Given the description of an element on the screen output the (x, y) to click on. 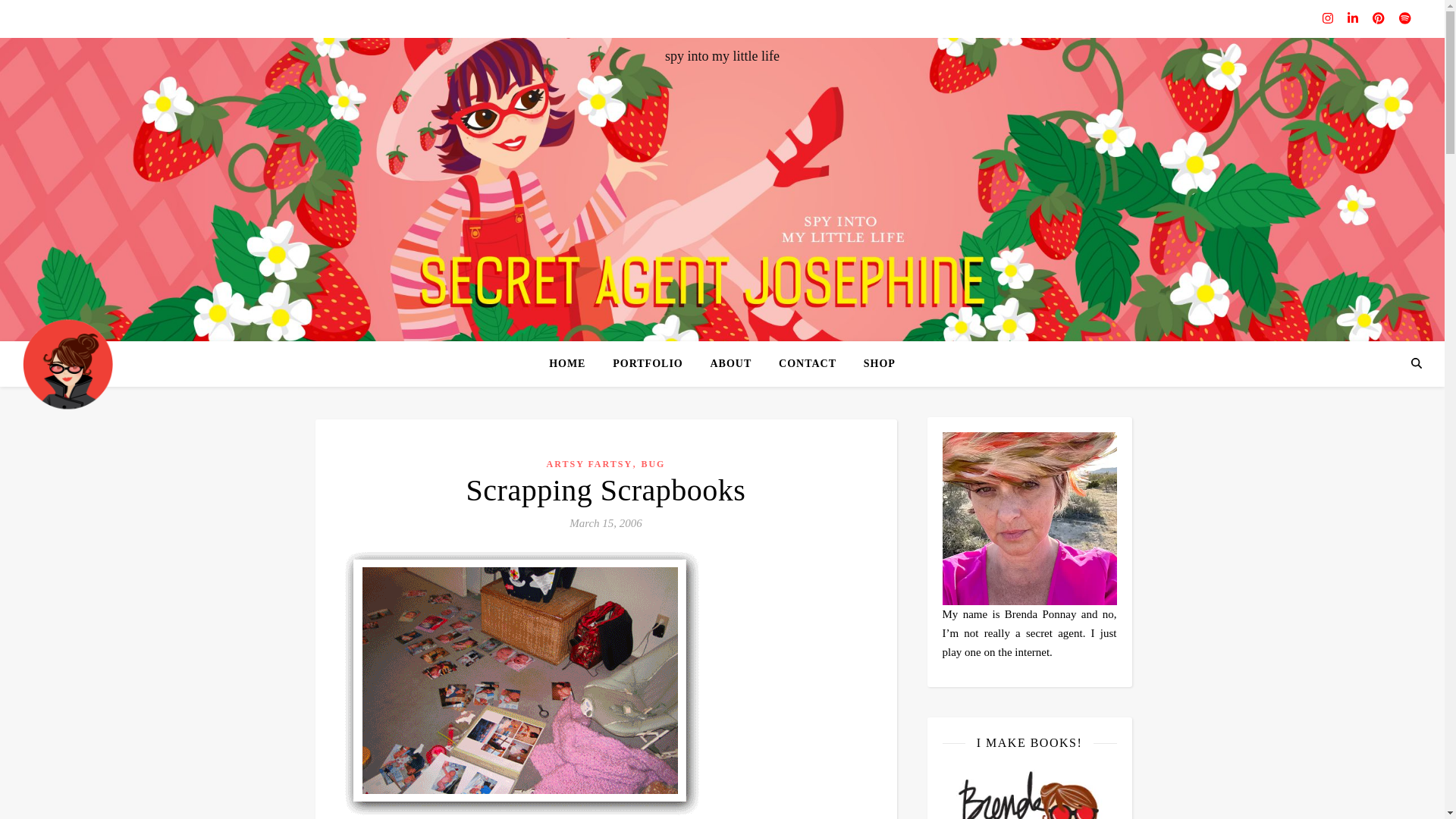
ABOUT (729, 363)
PORTFOLIO (647, 363)
HOME (572, 363)
SHOP (873, 363)
BUG (652, 463)
CONTACT (807, 363)
ARTSY FARTSY (590, 463)
Secret Agent Josephine (68, 363)
